Given the description of an element on the screen output the (x, y) to click on. 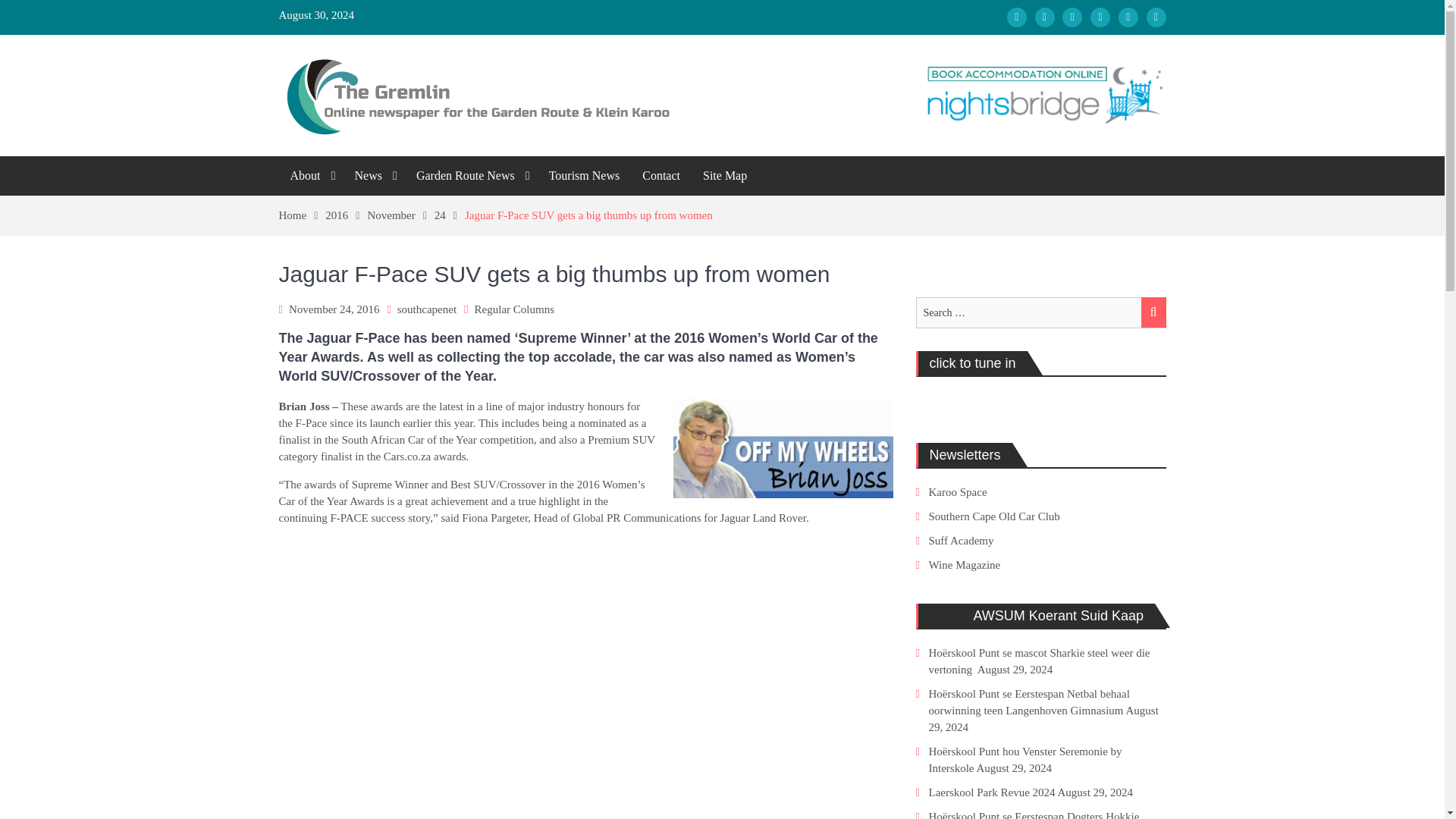
News (373, 175)
November (399, 215)
Site Map (724, 175)
Contact (660, 175)
Home (302, 215)
southcapenet (427, 309)
Facebook (1016, 17)
YouTube (1099, 17)
2016 (345, 215)
24 (448, 215)
